Given the description of an element on the screen output the (x, y) to click on. 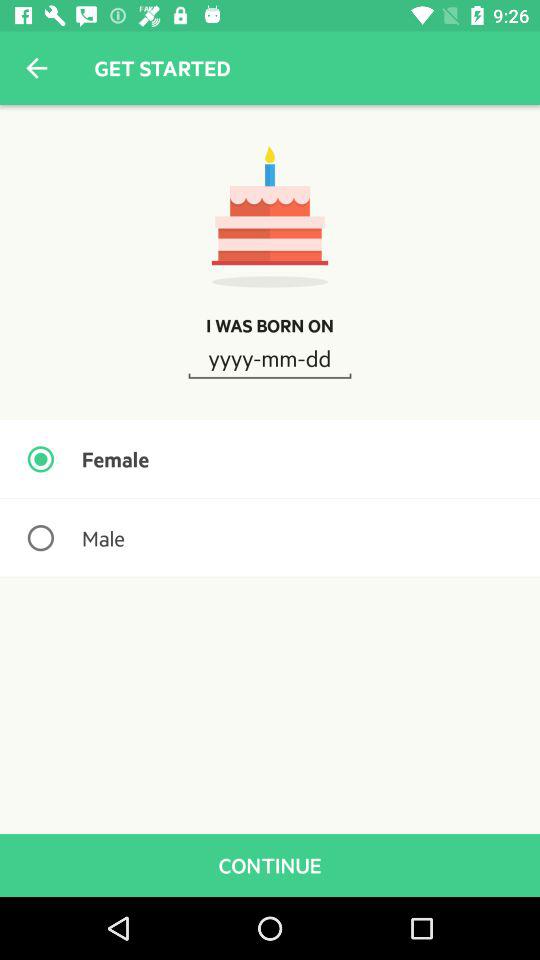
launch the icon above the female icon (269, 357)
